Given the description of an element on the screen output the (x, y) to click on. 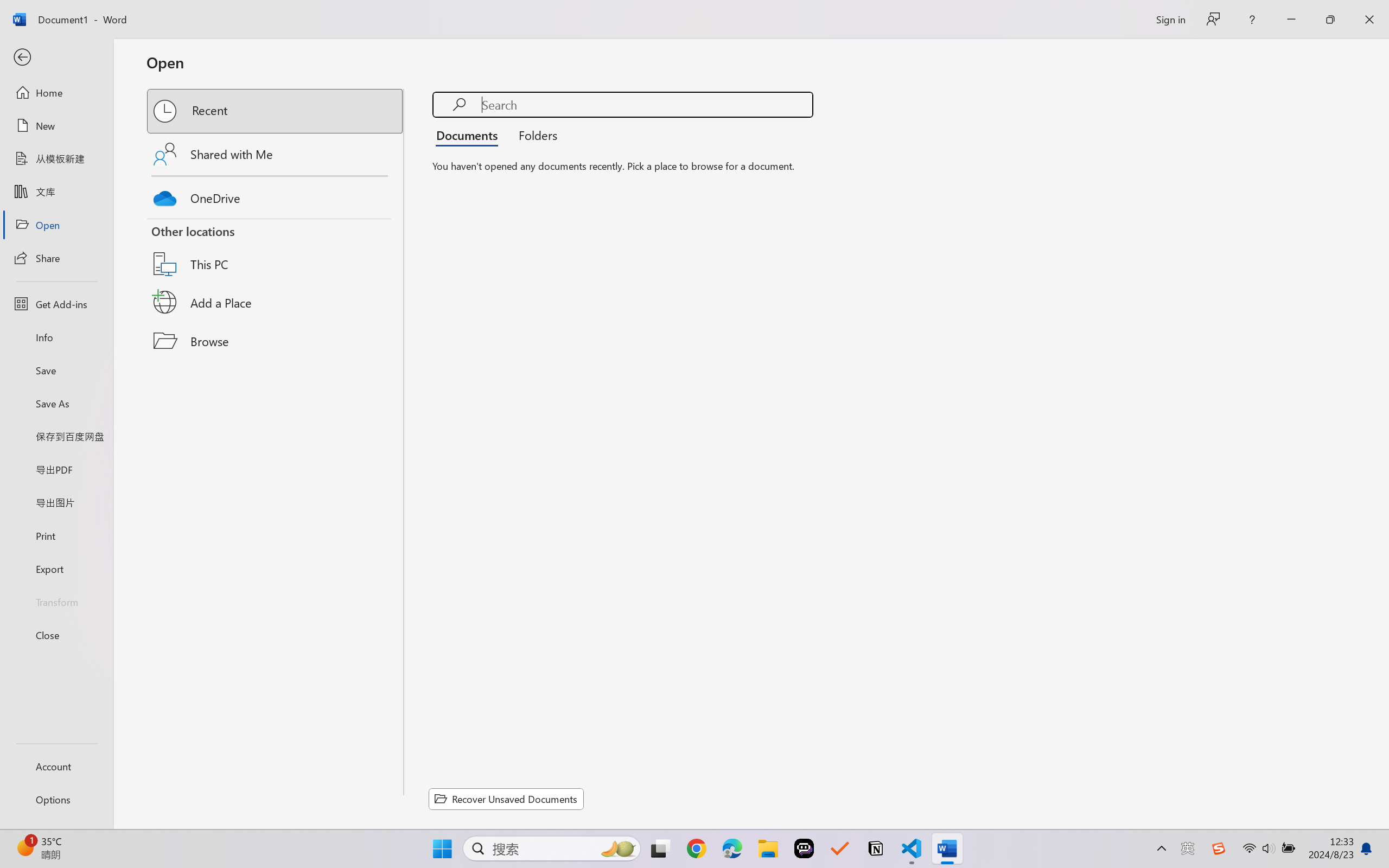
Print (56, 535)
Options (56, 798)
New (56, 125)
Documents (469, 134)
OneDrive (275, 195)
Browse (275, 340)
